Given the description of an element on the screen output the (x, y) to click on. 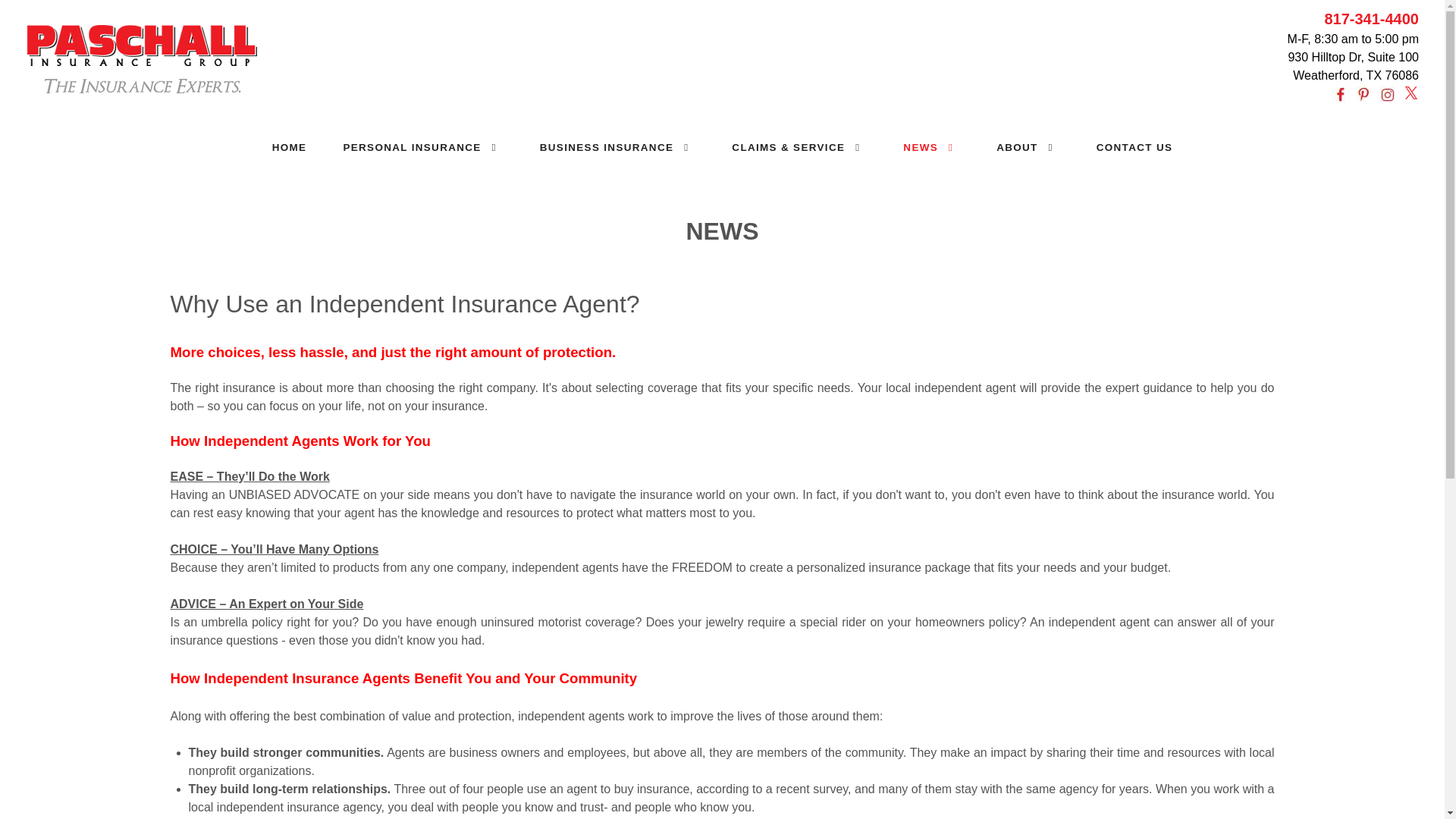
817-341-4400 (1370, 18)
HOME (288, 147)
NEWS (931, 147)
